Given the description of an element on the screen output the (x, y) to click on. 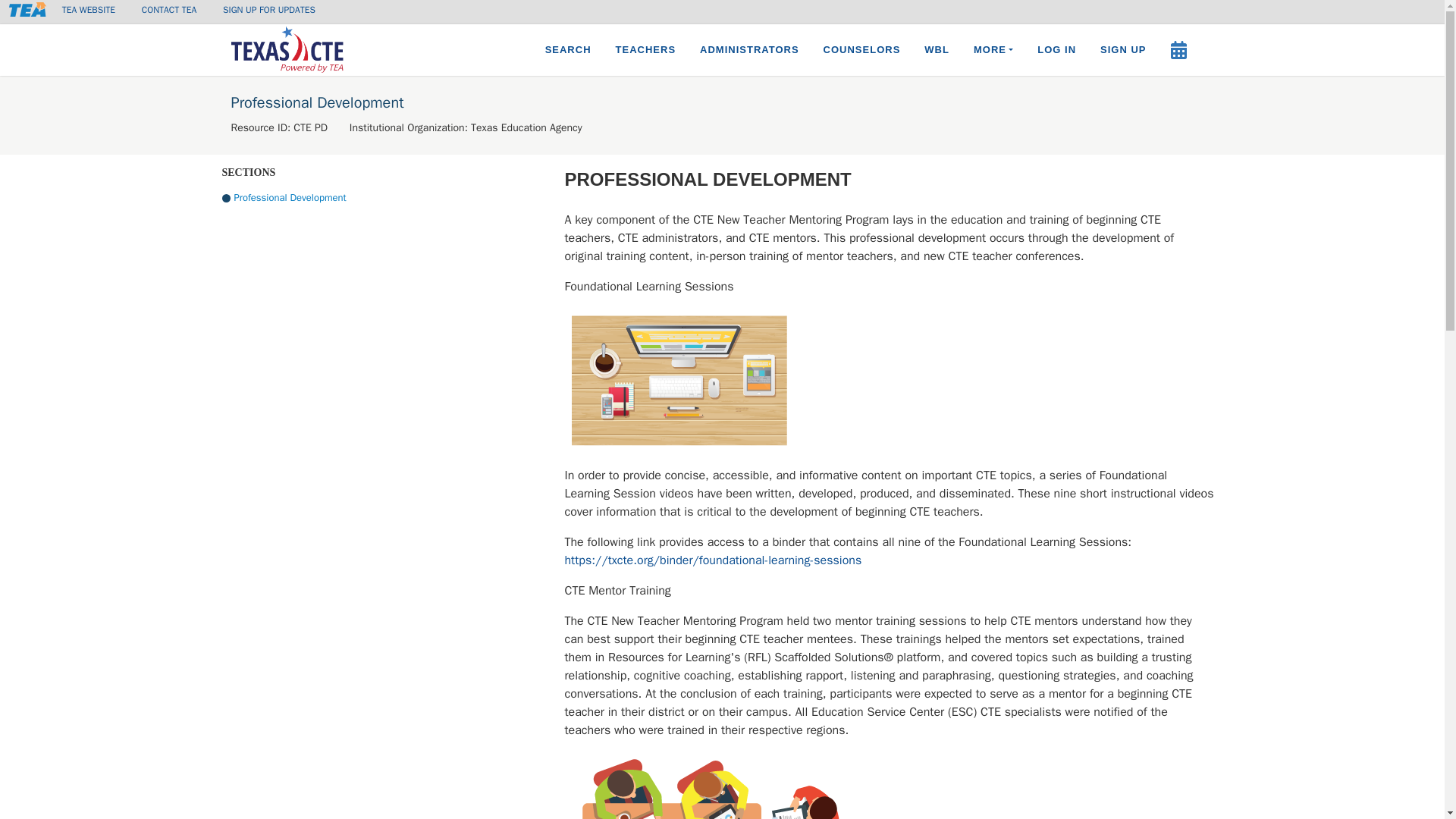
MORE (992, 50)
SIGN UP (1122, 50)
LOG IN (1056, 50)
CONTACT TEA (168, 9)
Professional Development (387, 197)
TEA WEBSITE (88, 9)
ADMINISTRATORS (748, 50)
TEACHERS (646, 50)
SIGN UP FOR UPDATES (268, 9)
COUNSELORS (861, 50)
SEARCH (568, 50)
WBL (936, 50)
